Given the description of an element on the screen output the (x, y) to click on. 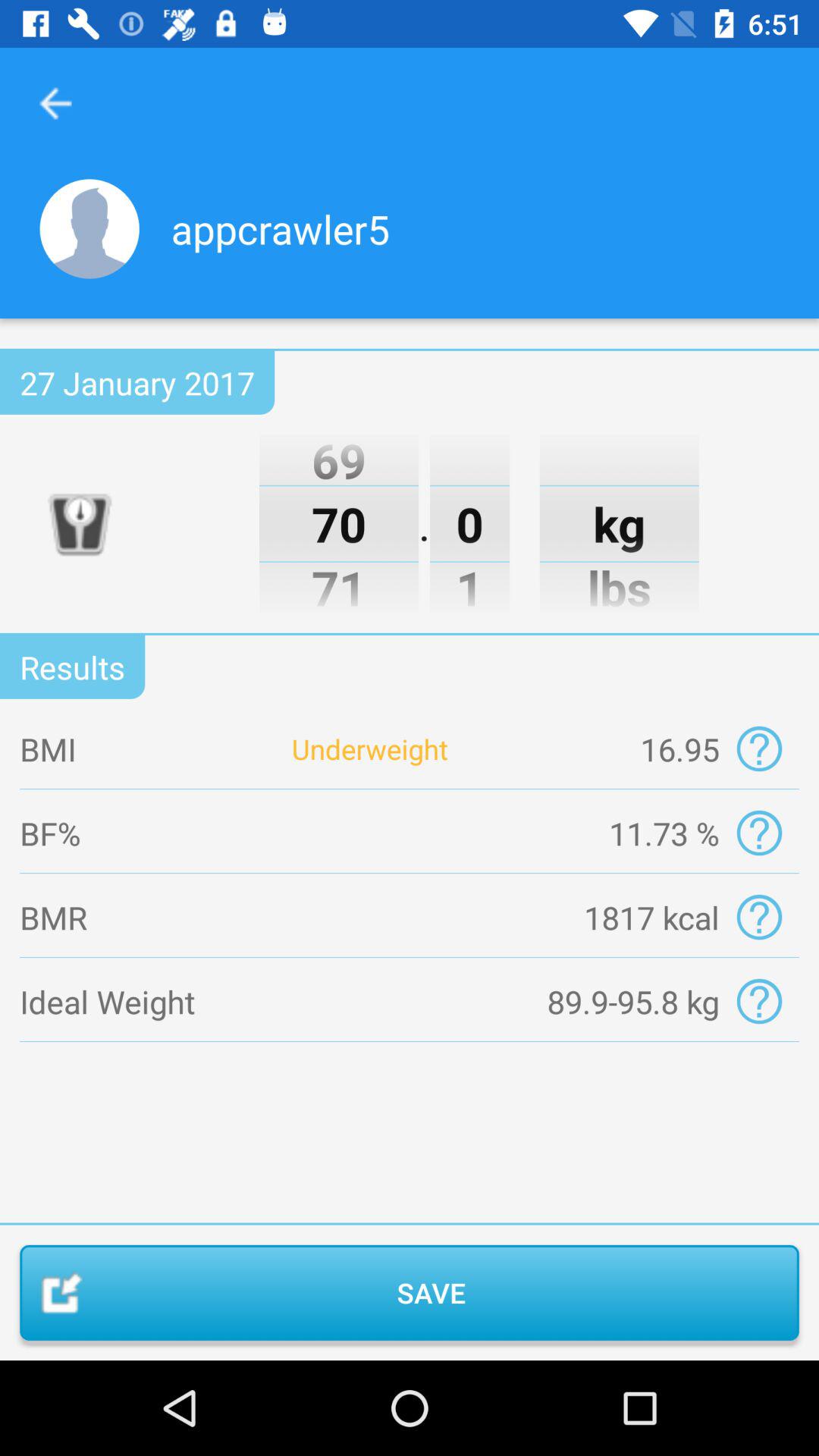
press the save icon (409, 1292)
